Given the description of an element on the screen output the (x, y) to click on. 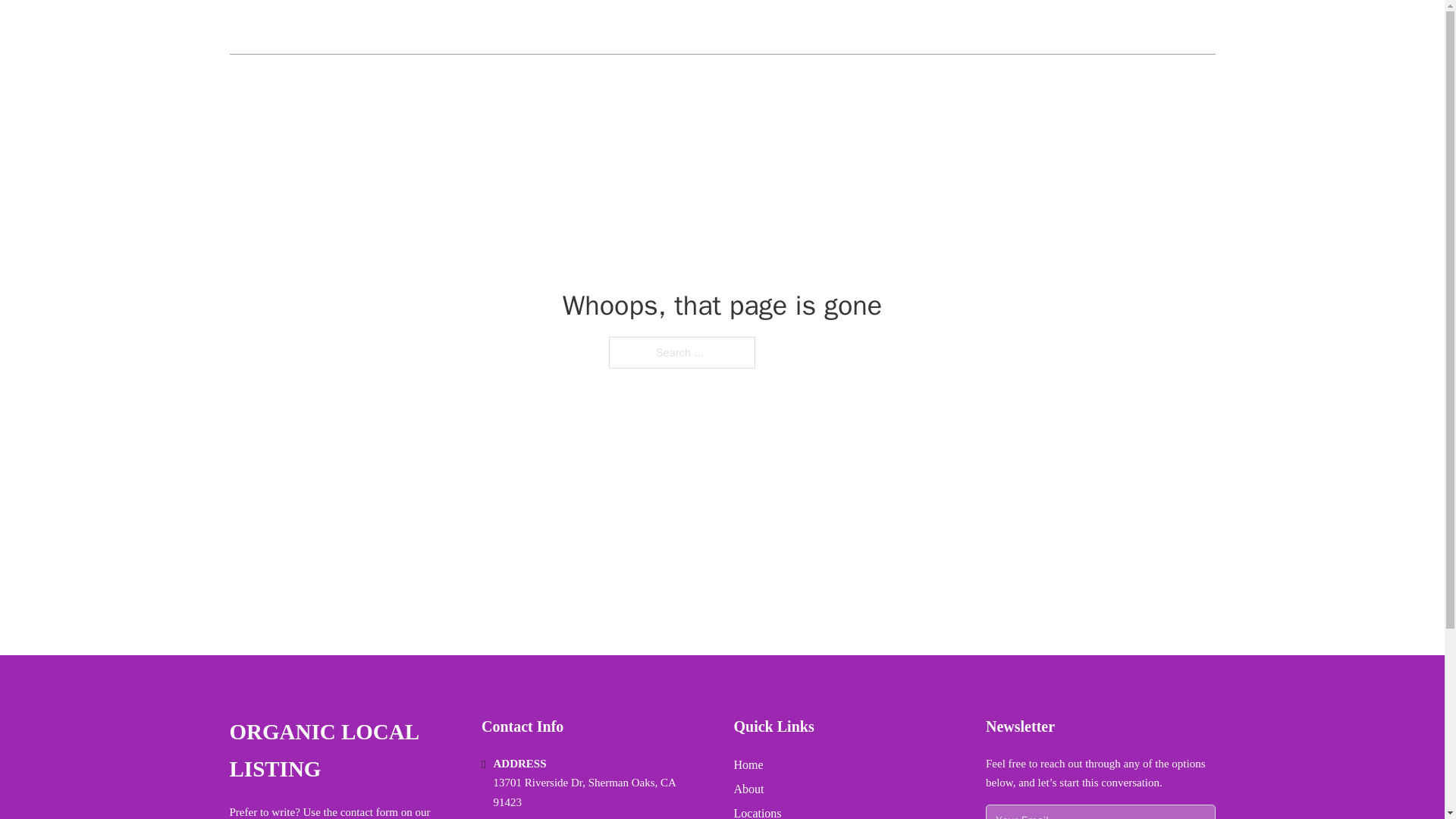
About (748, 788)
HOME (1032, 27)
Home (747, 764)
Locations (757, 811)
ORGANIC LOCAL LISTING (346, 26)
LOCATIONS (1105, 27)
ORGANIC LOCAL LISTING (343, 750)
